Given the description of an element on the screen output the (x, y) to click on. 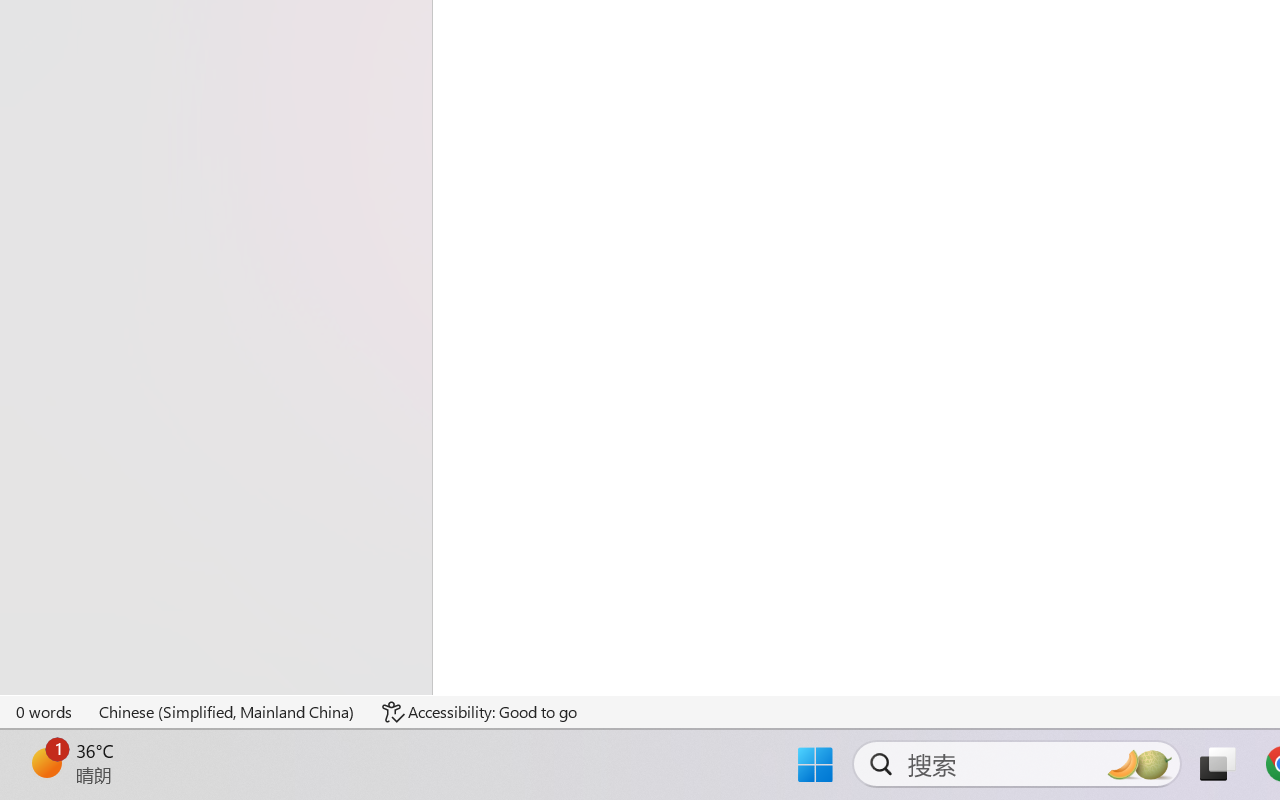
Language Chinese (Simplified, Mainland China) (227, 712)
